Given the description of an element on the screen output the (x, y) to click on. 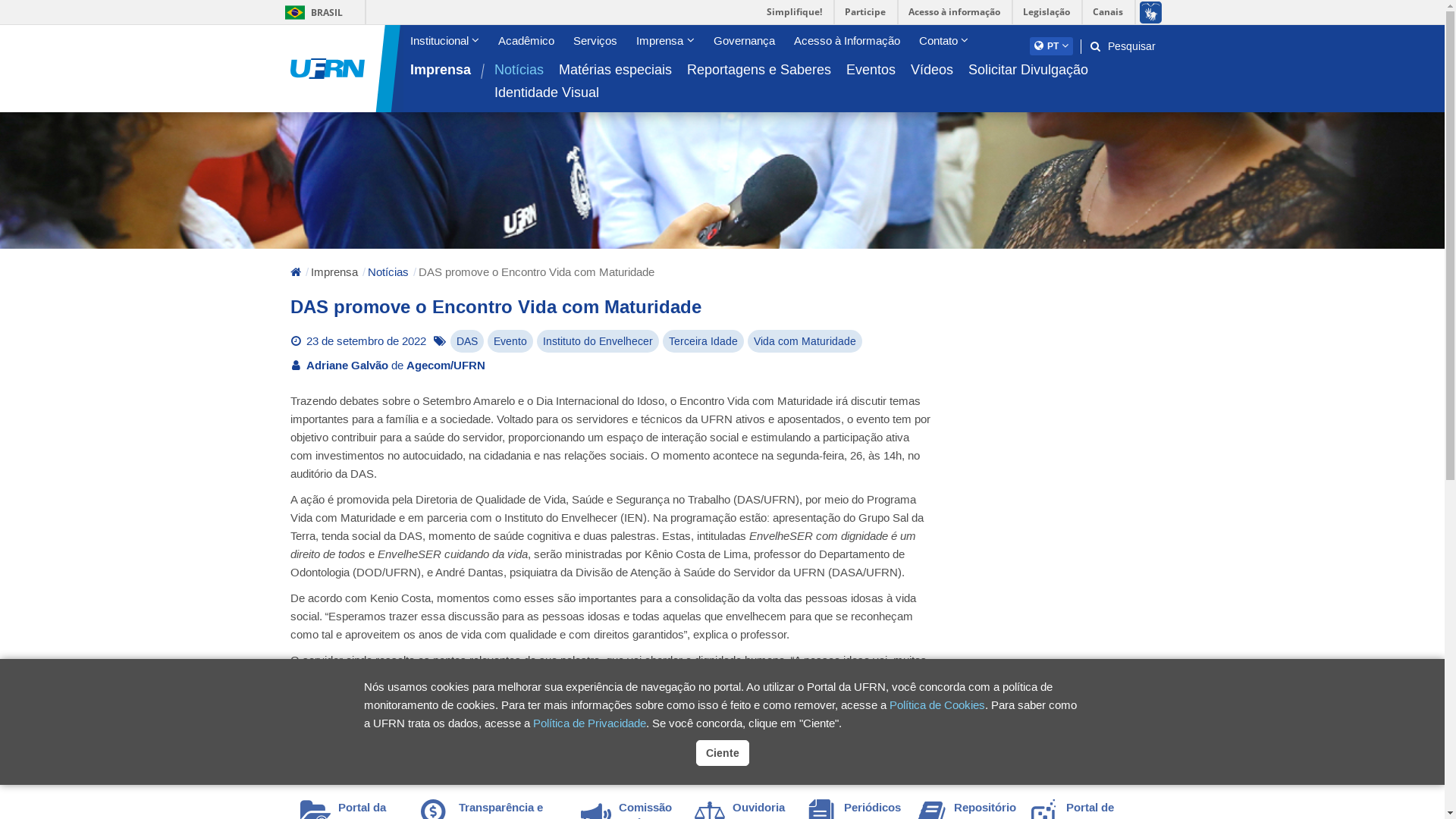
Identidade Visual Element type: text (546, 92)
PT Element type: text (1051, 45)
Pesquisar Element type: text (1122, 46)
DAS Element type: text (466, 340)
Contato
Abrir/fechar sub-menu Element type: text (940, 40)
Evento Element type: text (509, 340)
Vida com Maturidade Element type: text (804, 340)
Reportagens e Saberes Element type: text (758, 70)
Institucional
Abrir/fechar sub-menu Element type: text (442, 40)
Ciente Element type: text (722, 752)
Imprensa
Abrir/fechar sub-menu Element type: text (663, 40)
Terceira Idade Element type: text (702, 340)
Eventos Element type: text (870, 70)
BRASIL Element type: text (295, 12)
Instituto do Envelhecer Element type: text (597, 340)
